Given the description of an element on the screen output the (x, y) to click on. 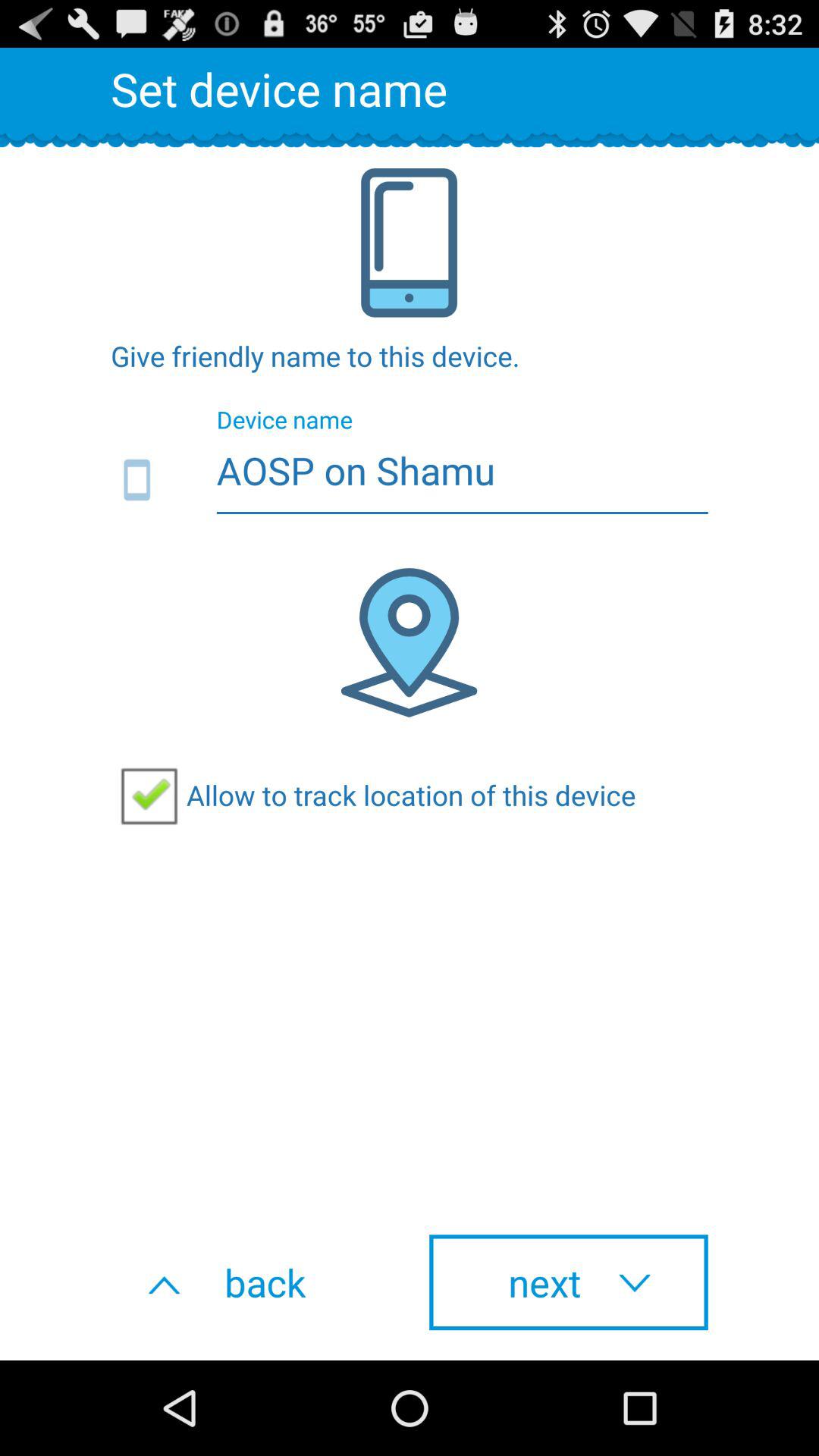
choose the item to the left of next (249, 1282)
